Given the description of an element on the screen output the (x, y) to click on. 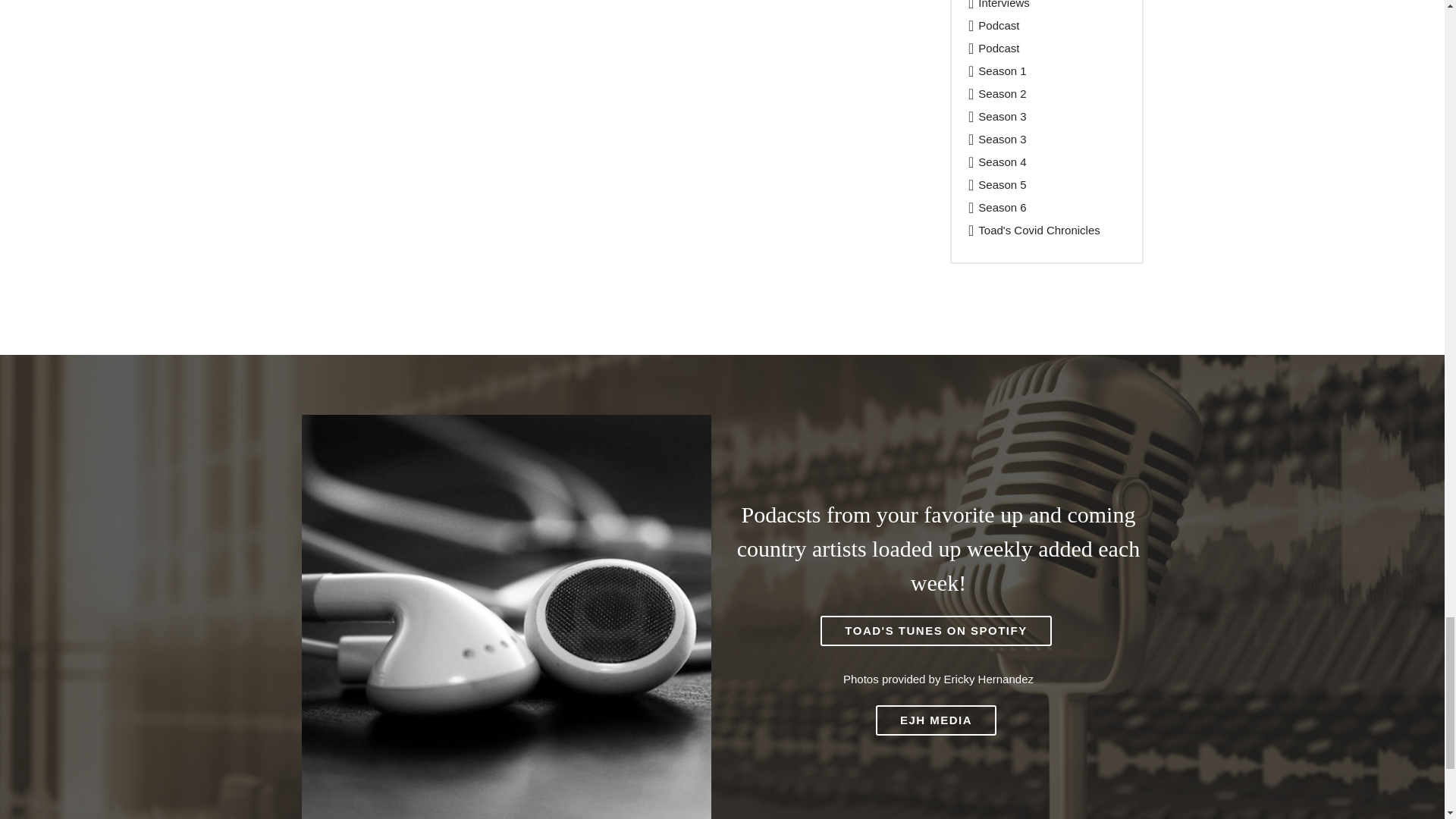
Podcast (998, 47)
Interviews (1003, 4)
Podcast (998, 24)
